Given the description of an element on the screen output the (x, y) to click on. 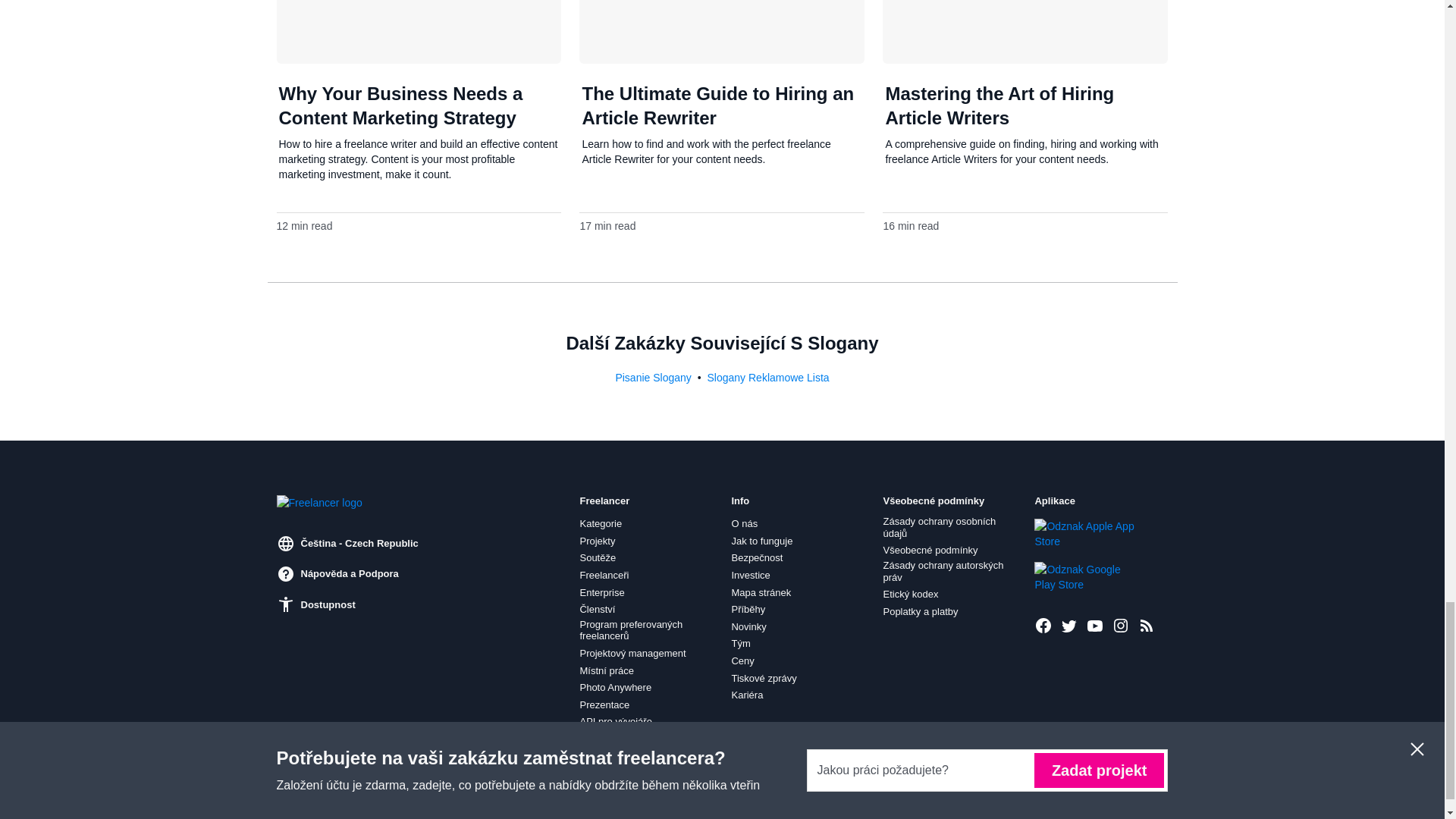
Freelancer na Twitteru (1068, 625)
Freelancer na Youtube (1094, 625)
Freelancer na Instagramu (1120, 625)
Freelancer na Facebooku (1042, 625)
